Given the description of an element on the screen output the (x, y) to click on. 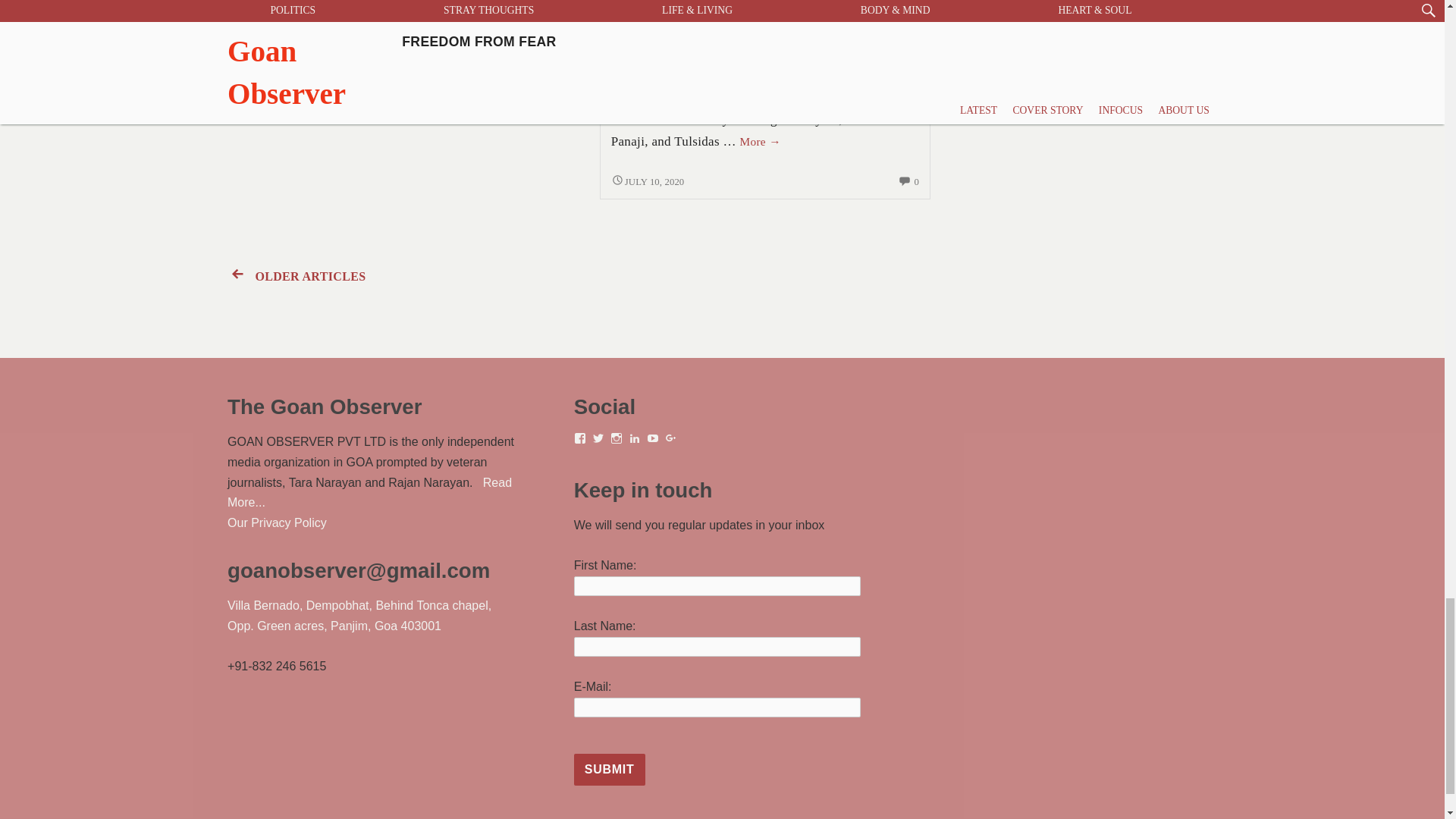
Submit (609, 769)
